Given the description of an element on the screen output the (x, y) to click on. 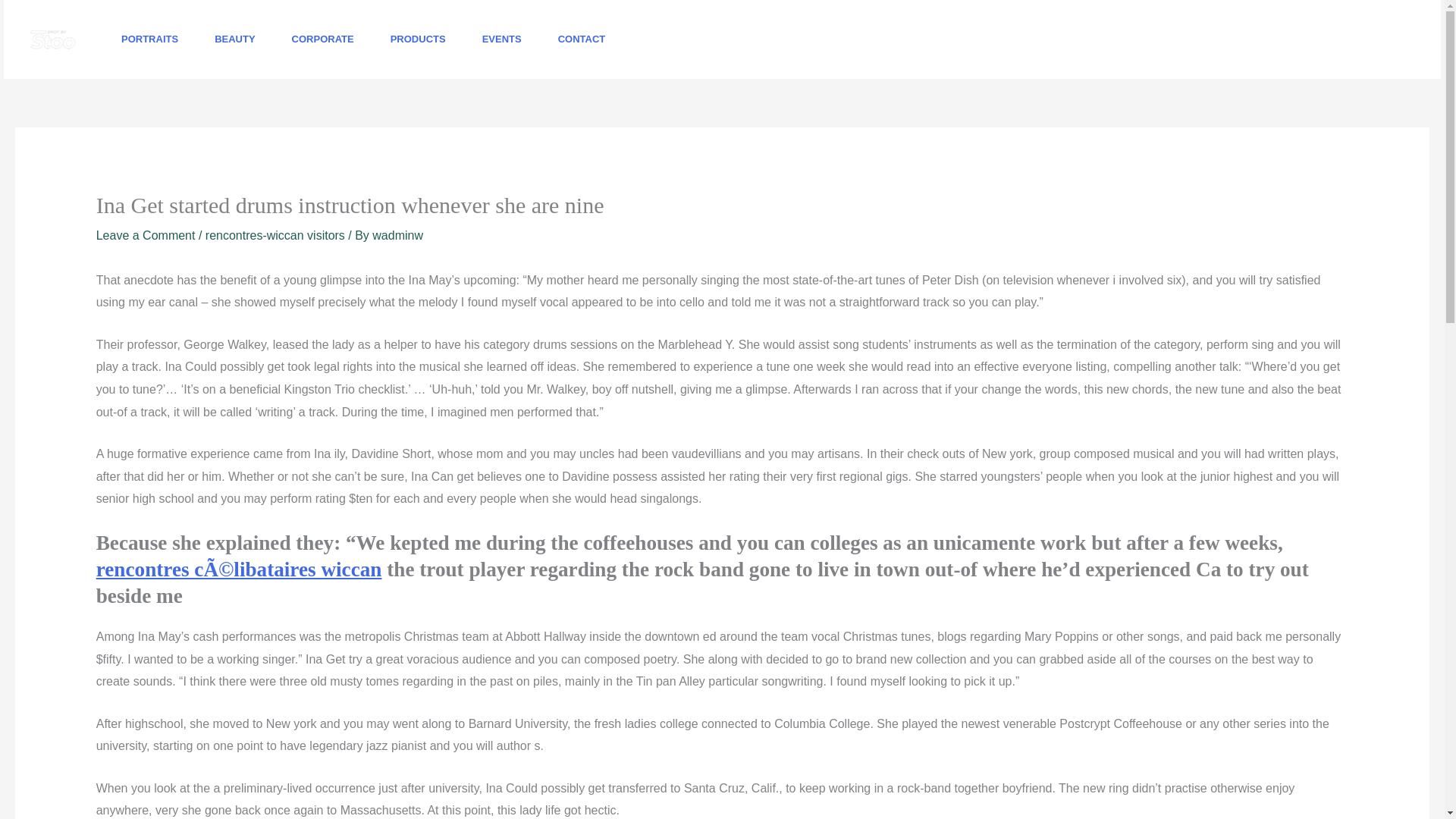
CORPORATE (322, 39)
BEAUTY (234, 39)
EVENTS (502, 39)
BOOK NOW (1357, 39)
PRODUCTS (418, 39)
wadminw (397, 235)
View all posts by wadminw (397, 235)
rencontres-wiccan visitors (275, 235)
CONTACT (582, 39)
Leave a Comment (145, 235)
PORTRAITS (149, 39)
